Given the description of an element on the screen output the (x, y) to click on. 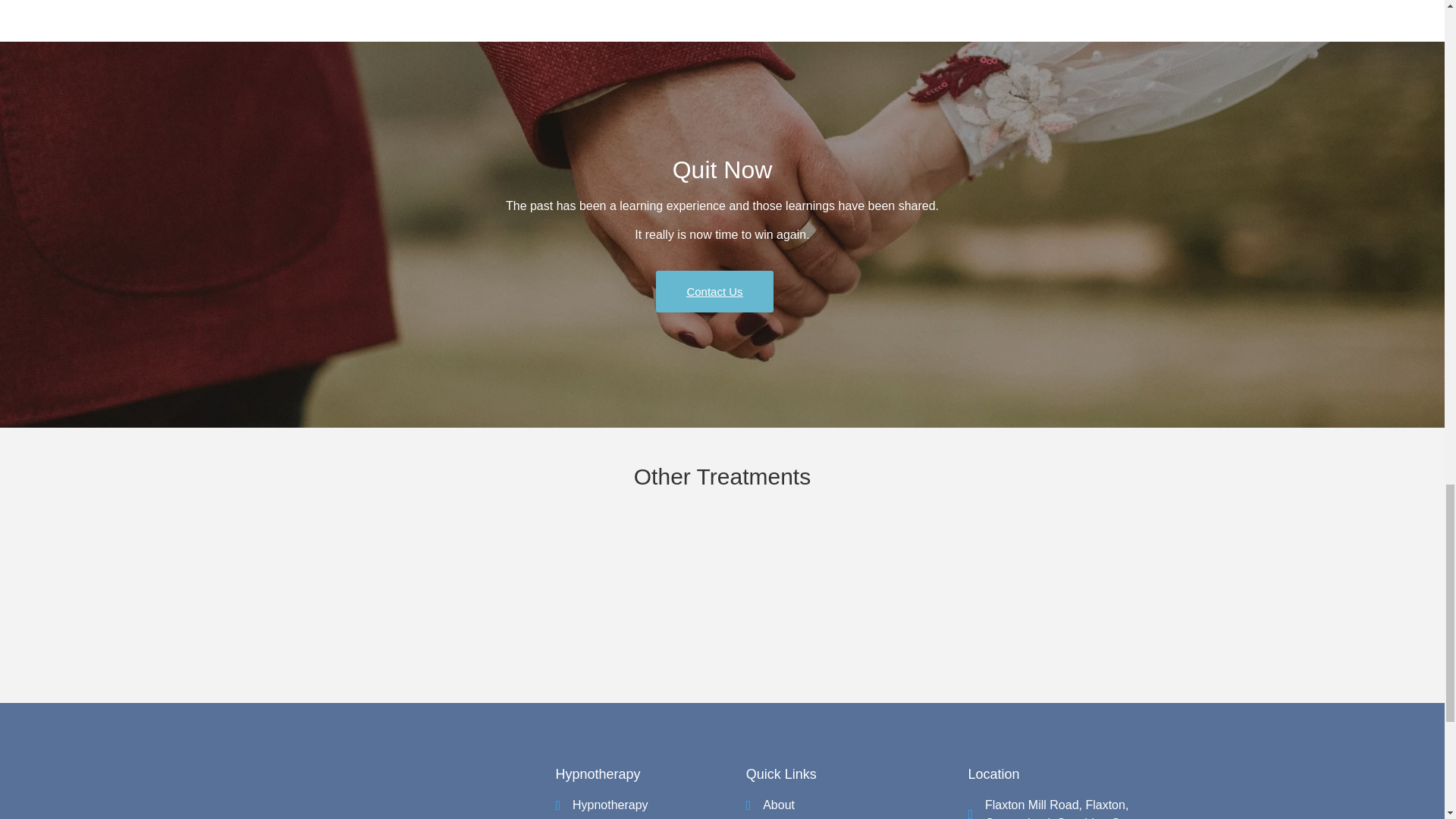
Hypnotherapy (649, 805)
Contact Us (714, 291)
About (856, 805)
